Given the description of an element on the screen output the (x, y) to click on. 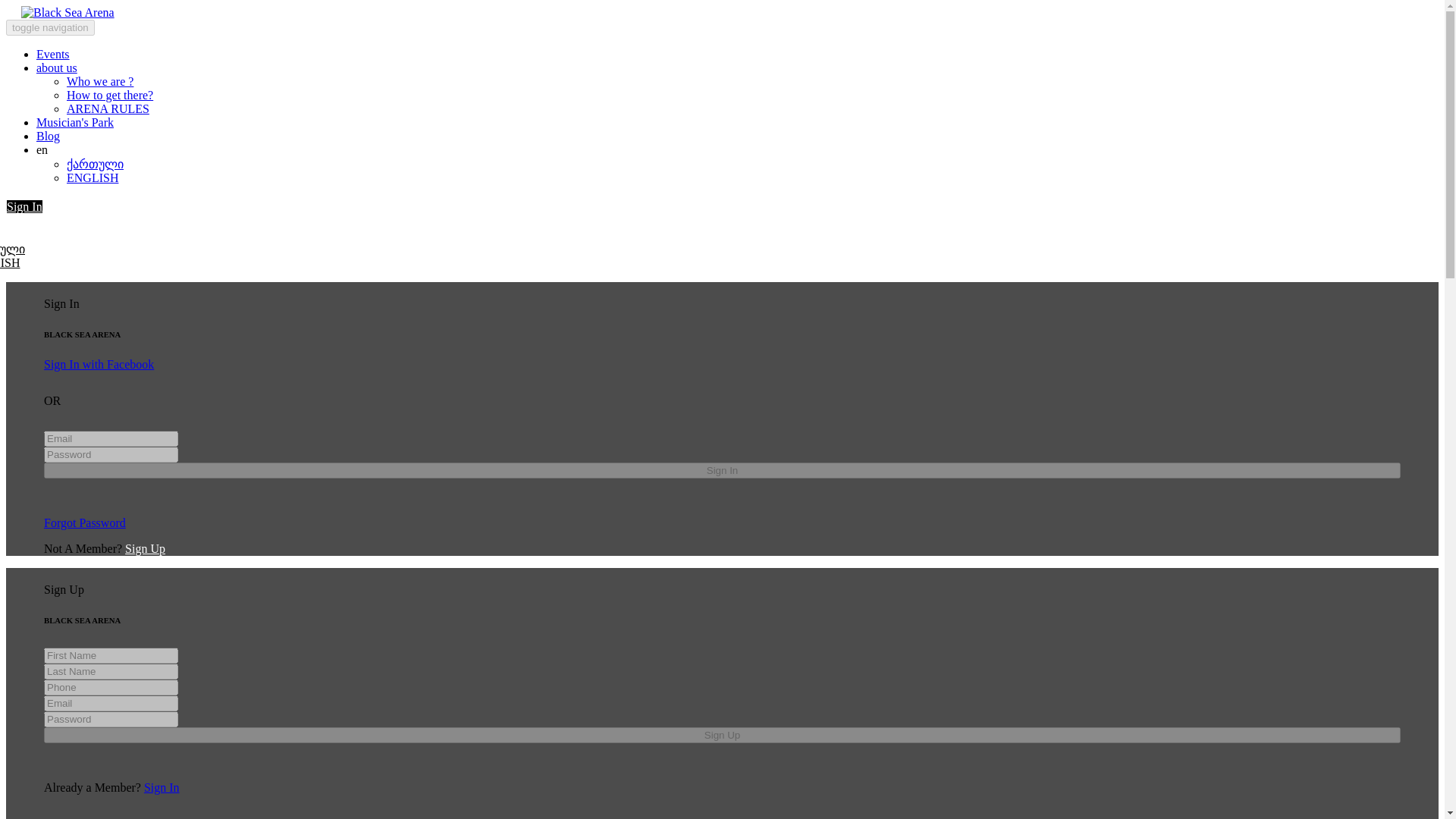
Sign Up (721, 734)
How to get there? (109, 94)
Sign In (24, 206)
about us (56, 67)
Events (52, 53)
Blog (47, 135)
ARENA RULES (107, 108)
Who we are ? (99, 81)
EN (18, 224)
Sign In with Facebook (98, 364)
en (42, 149)
Black Sea Arena (60, 11)
Sign In (161, 787)
Sign Up (145, 548)
ENGLISH (10, 262)
